Given the description of an element on the screen output the (x, y) to click on. 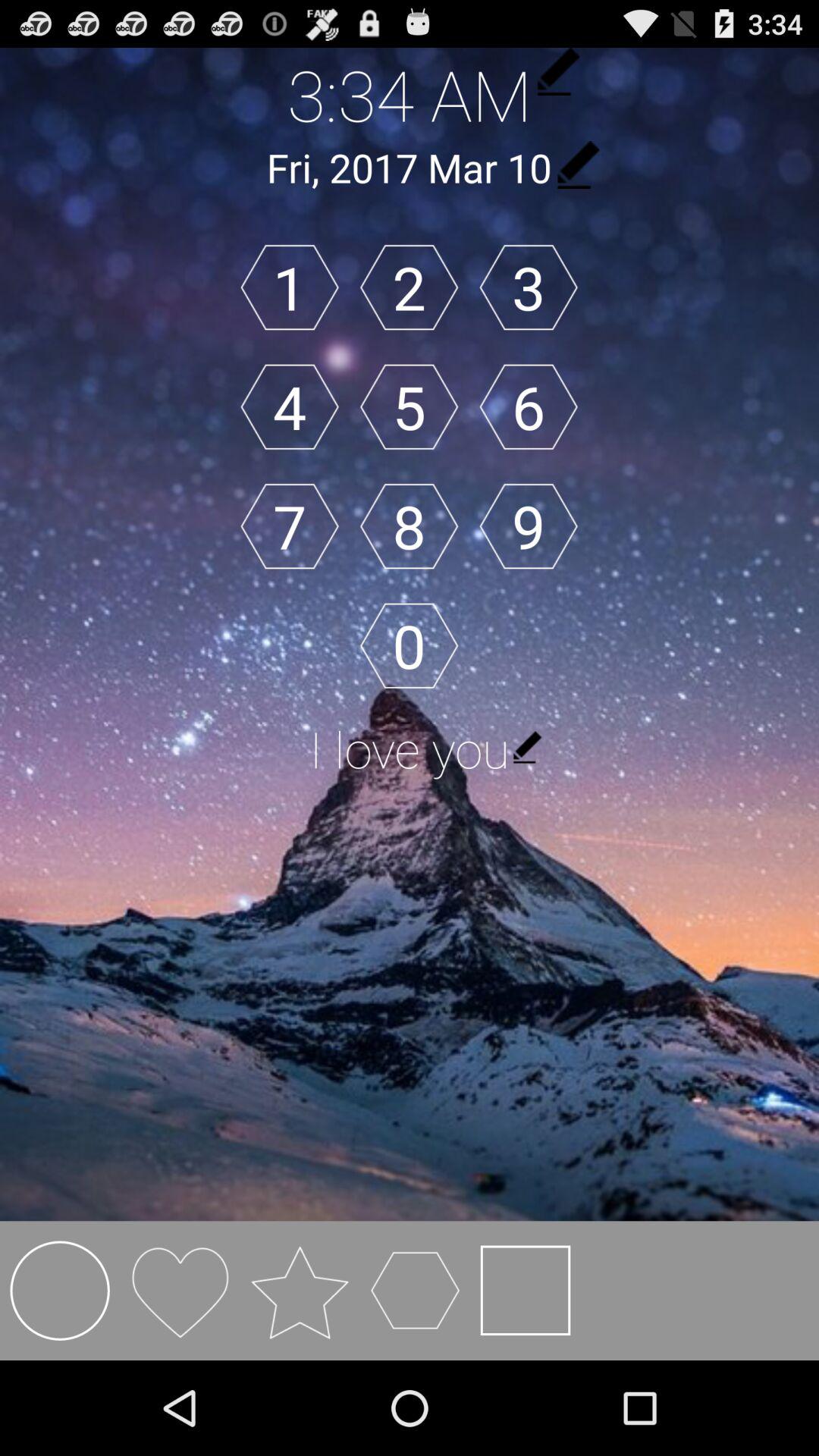
jump to 3:34 am icon (409, 94)
